Given the description of an element on the screen output the (x, y) to click on. 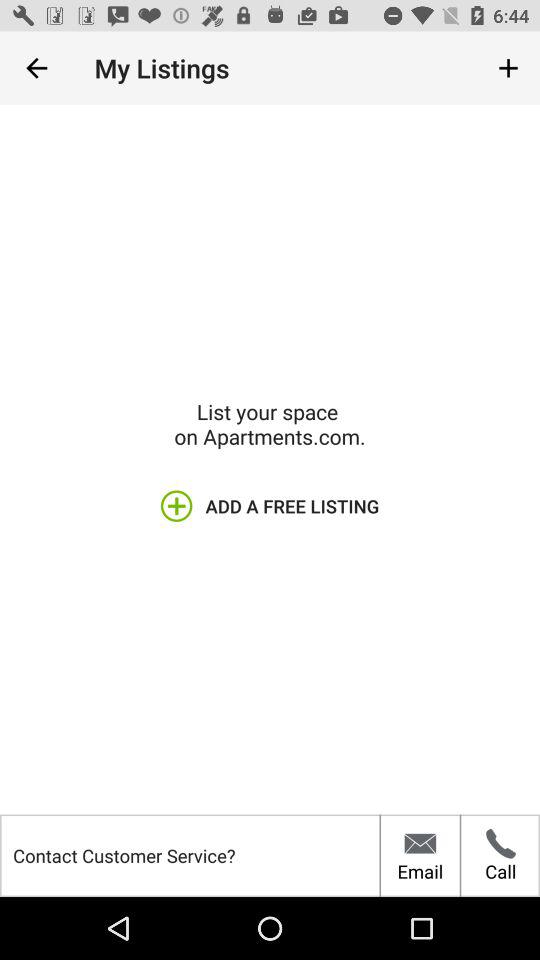
turn on item next to the my listings icon (508, 67)
